Given the description of an element on the screen output the (x, y) to click on. 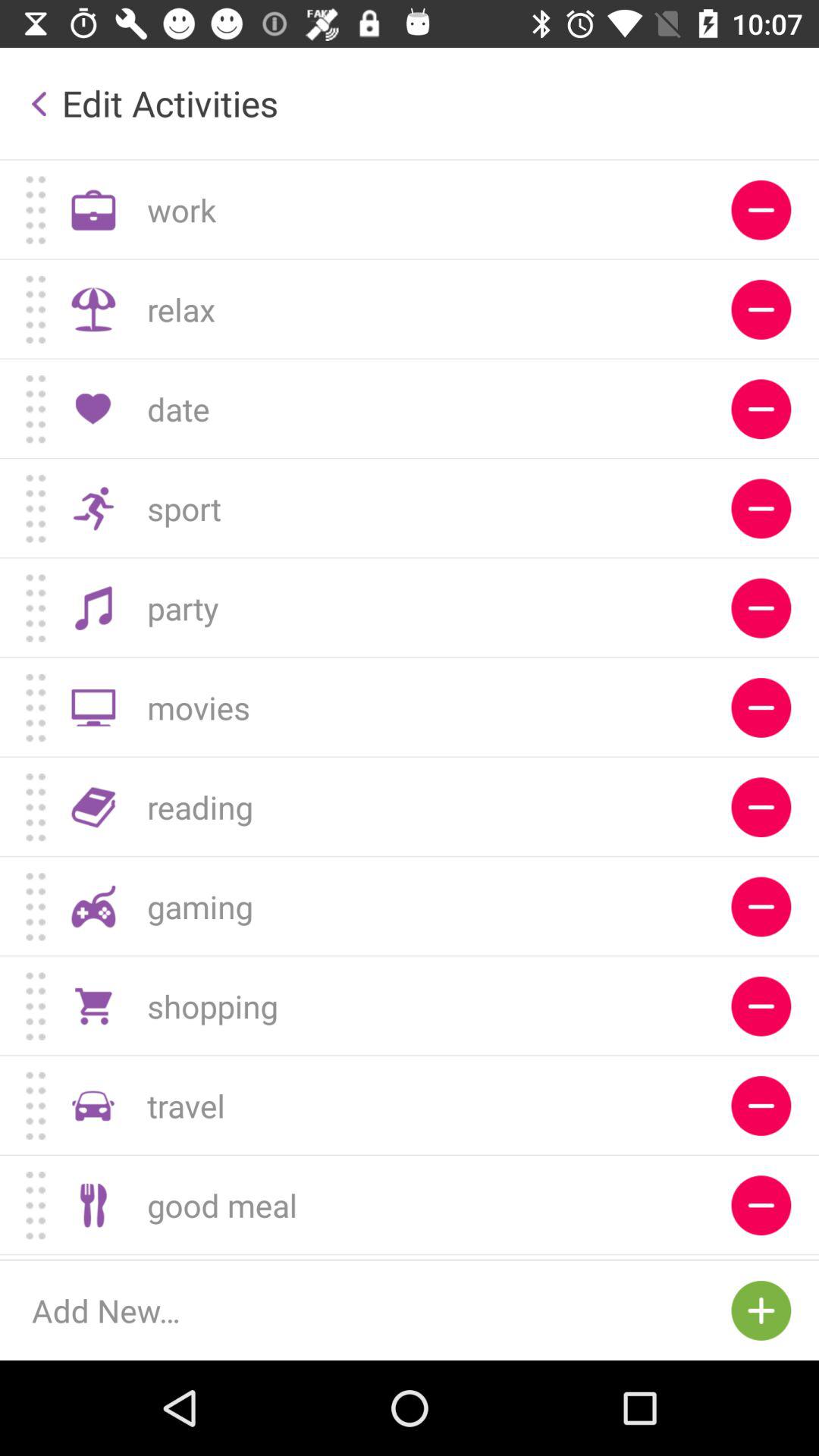
remove item (761, 309)
